Given the description of an element on the screen output the (x, y) to click on. 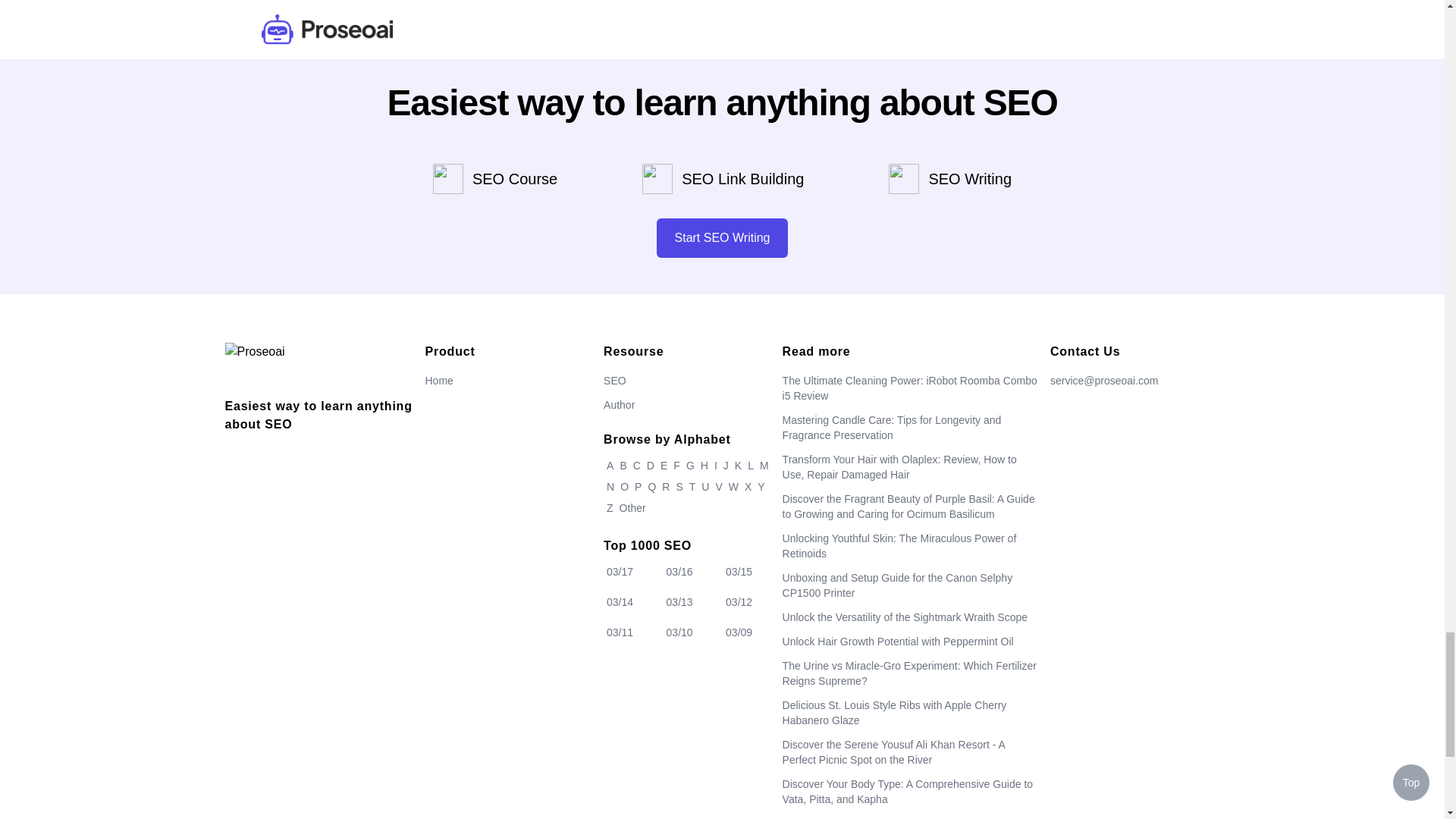
D (650, 465)
J (726, 465)
K (738, 465)
Home (438, 380)
L (750, 465)
Q (652, 486)
I (715, 465)
E (663, 465)
A (609, 465)
B (621, 465)
F (675, 465)
SEO (615, 380)
M (764, 465)
P (638, 486)
G (689, 465)
